Given the description of an element on the screen output the (x, y) to click on. 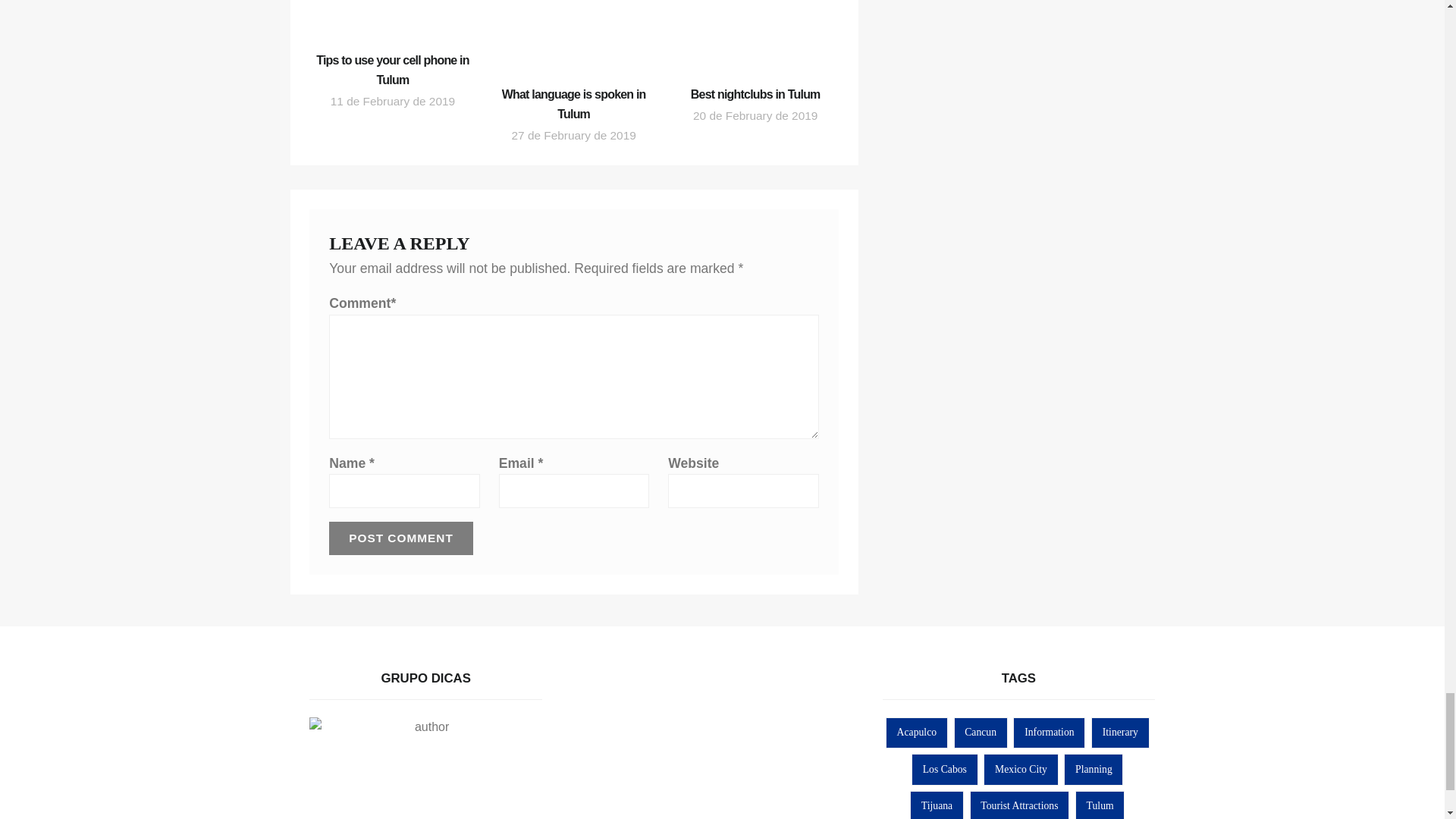
Post Comment (401, 538)
